Given the description of an element on the screen output the (x, y) to click on. 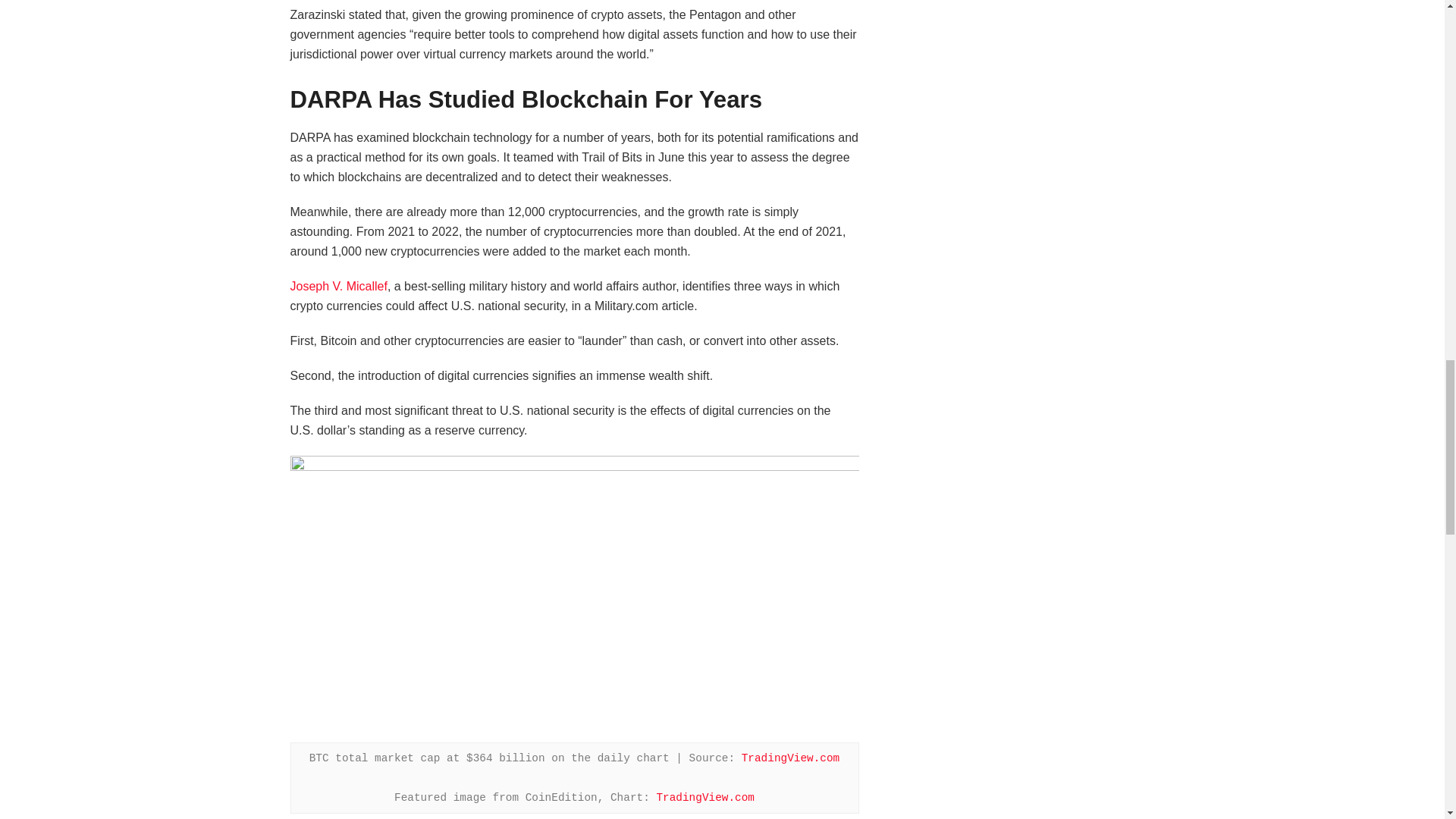
Joseph V. Micallef (338, 286)
TradingView.com (790, 758)
TradingView.com (705, 797)
